Given the description of an element on the screen output the (x, y) to click on. 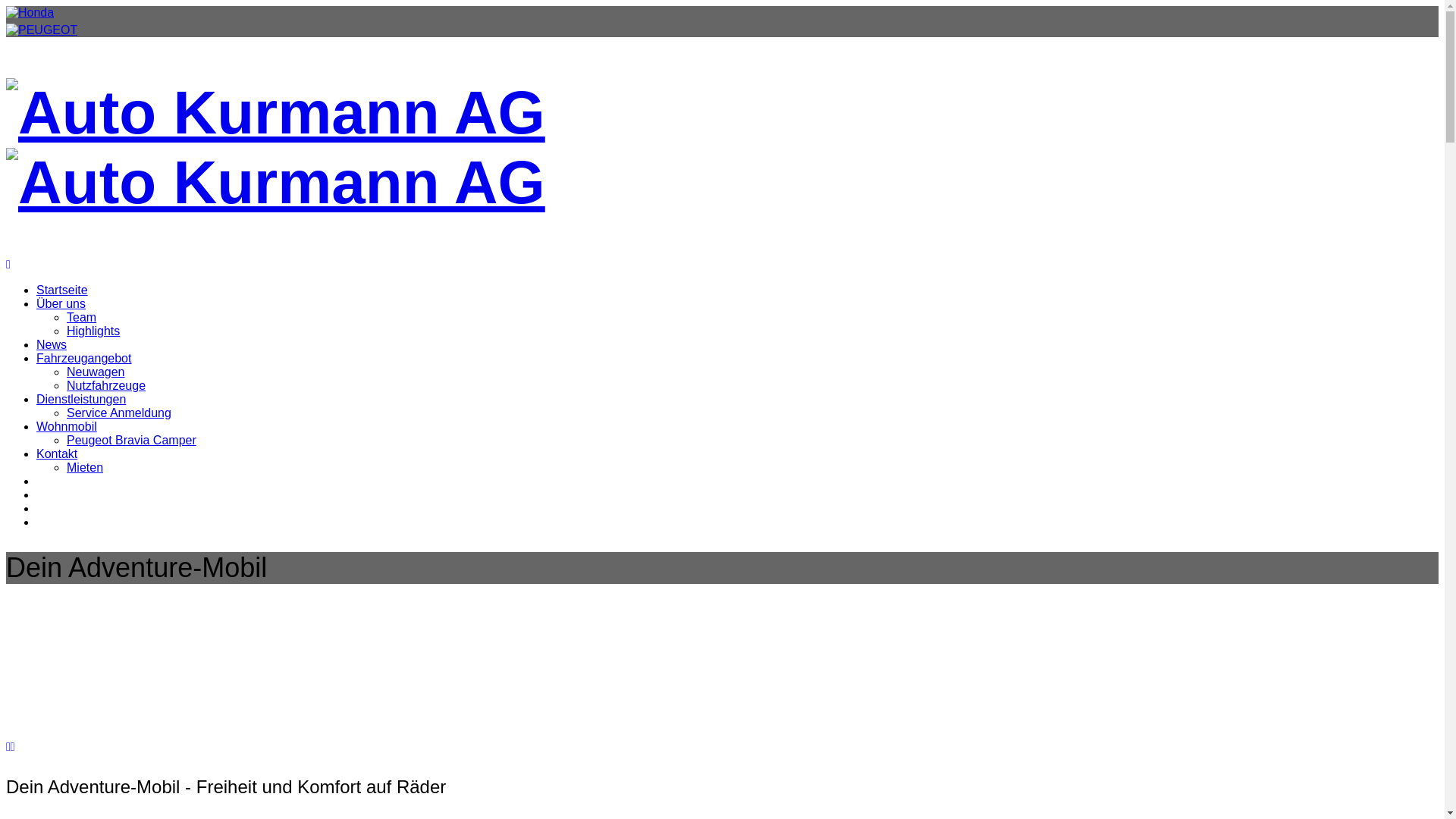
Dienstleistungen Element type: text (80, 398)
Service Anmeldung Element type: text (118, 412)
Fahrzeugangebot Element type: text (83, 357)
Peugeot Bravia Camper Element type: text (131, 439)
Highlights Element type: text (92, 330)
Neuwagen Element type: text (95, 371)
Wohnmobil Element type: text (66, 426)
Team Element type: text (81, 316)
Kontakt Element type: text (56, 453)
Mieten Element type: text (84, 467)
Startseite Element type: text (61, 289)
News Element type: text (51, 344)
Nutzfahrzeuge Element type: text (105, 385)
